Given the description of an element on the screen output the (x, y) to click on. 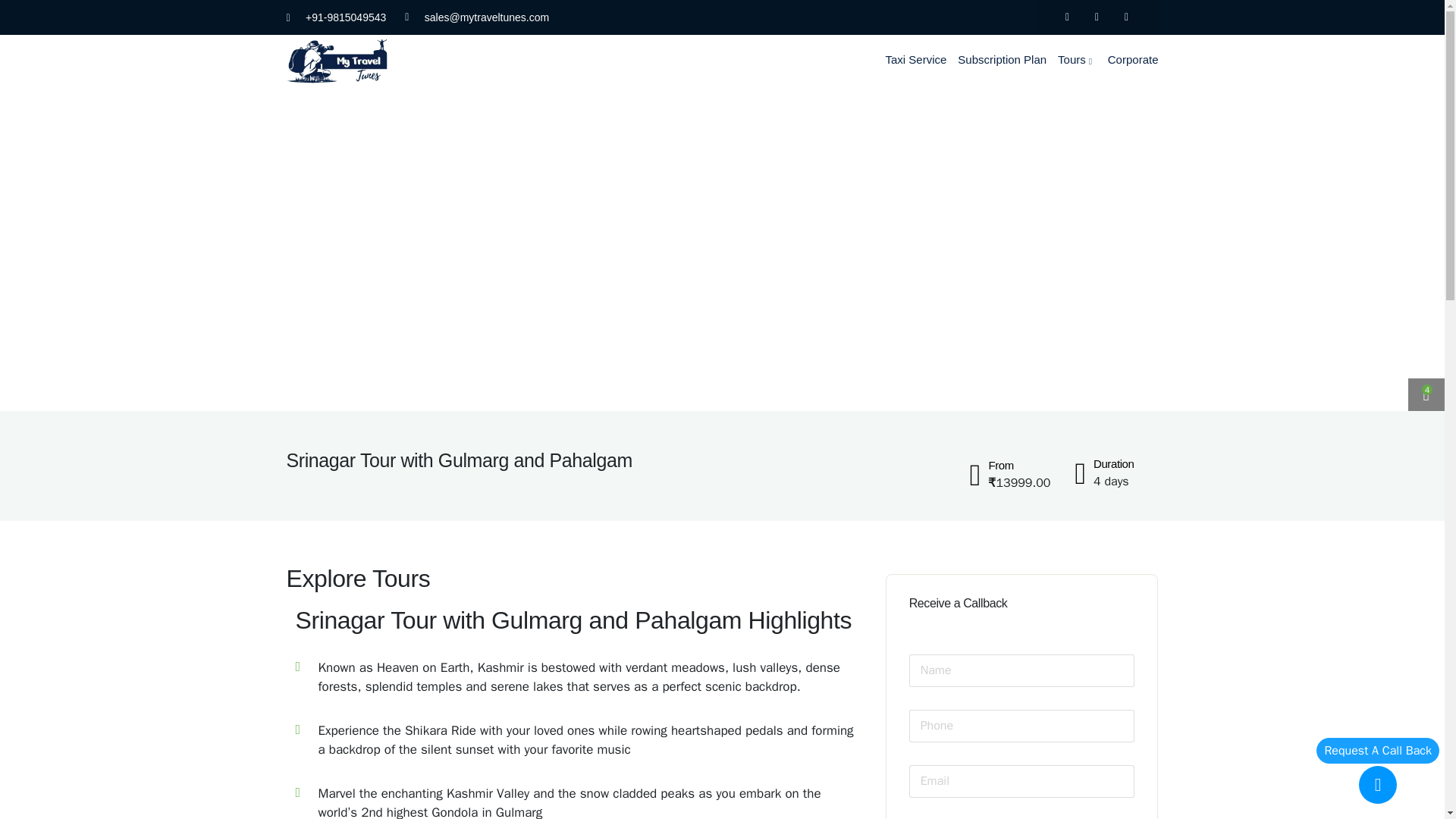
Taxi Service (921, 59)
4 (1426, 396)
Request A Call Back (1377, 750)
Subscription Plan (1008, 59)
Srinagar Tour with Gulmarg and Pahalgam Highlights (574, 712)
Home (337, 60)
Tours (1083, 59)
Corporate (1139, 59)
